Given the description of an element on the screen output the (x, y) to click on. 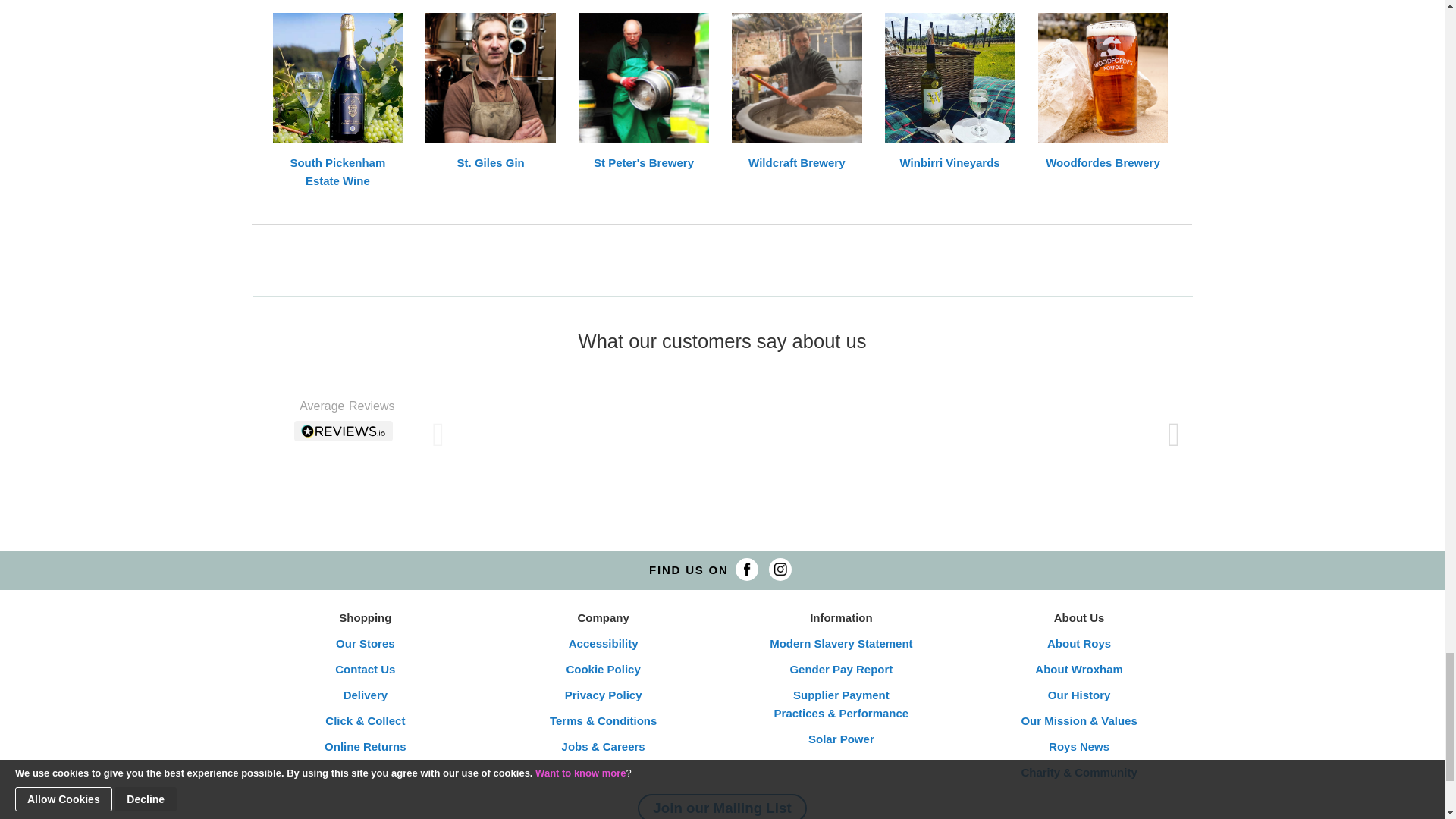
Our History (1079, 695)
